Given the description of an element on the screen output the (x, y) to click on. 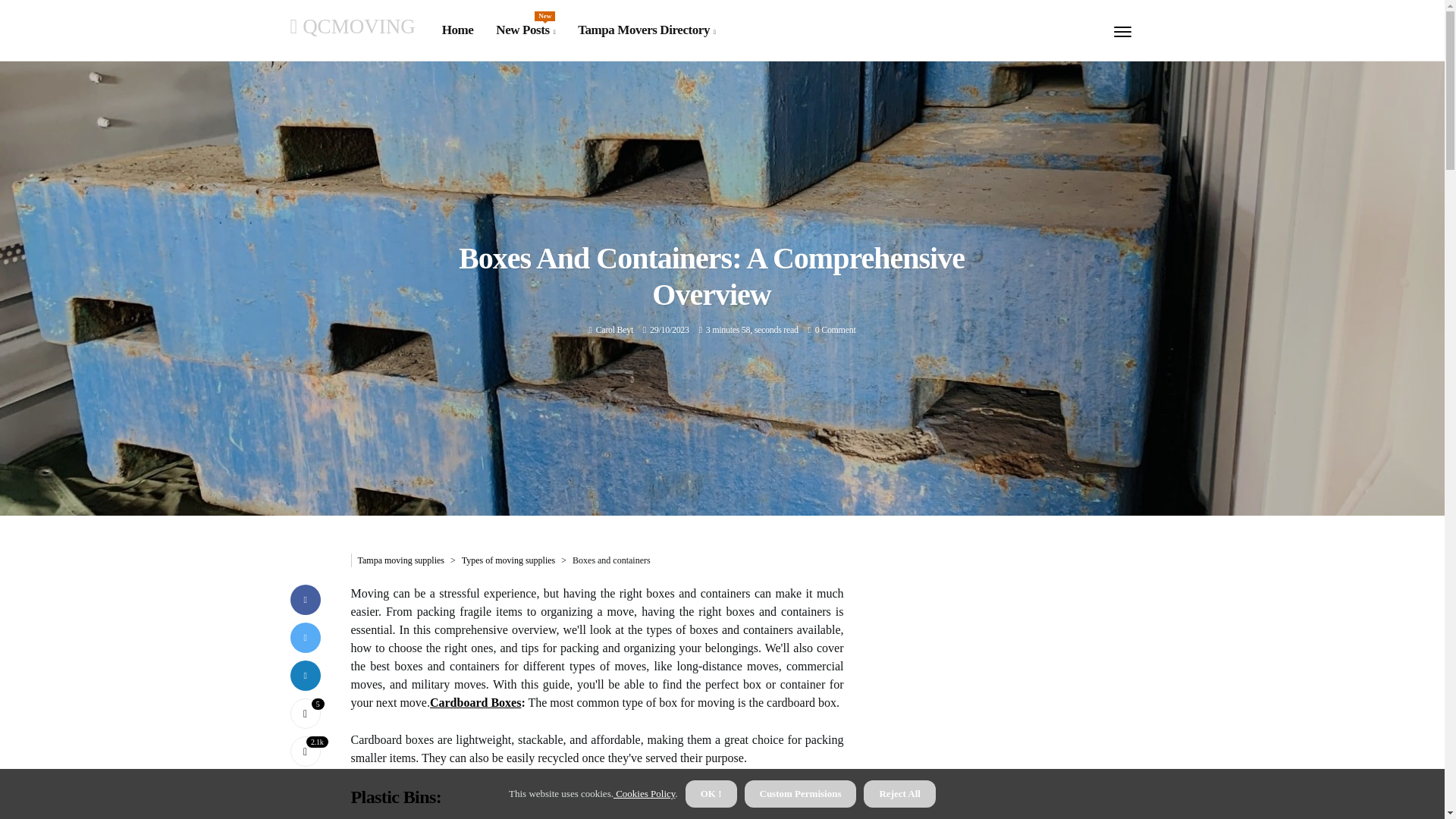
Tampa Movers Directory (646, 30)
Posts by Carol Beyt (614, 329)
QCMOVING (351, 26)
Like (525, 30)
